Given the description of an element on the screen output the (x, y) to click on. 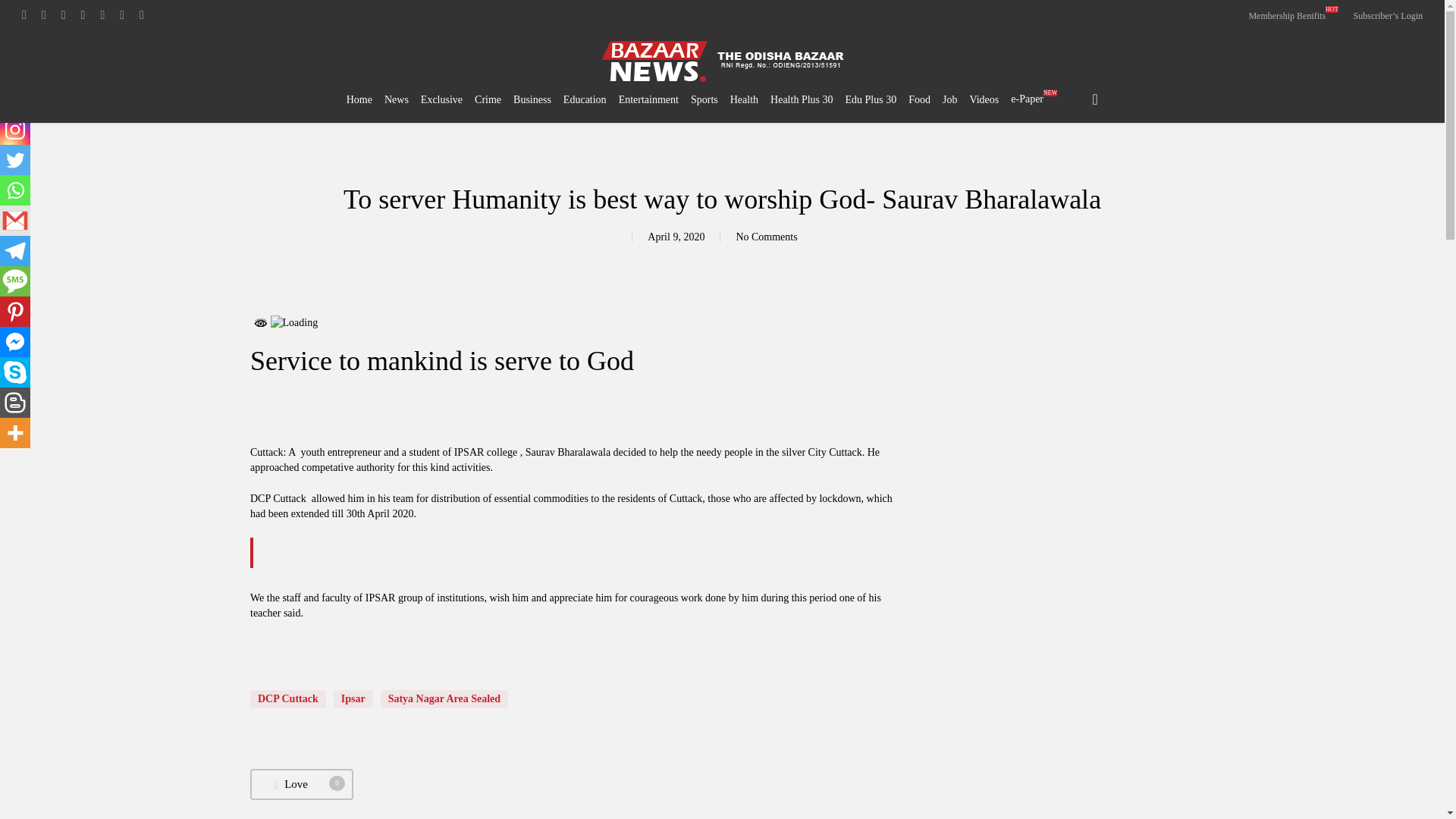
Health (744, 100)
Edu Plus 30 (870, 100)
Education (585, 100)
search (1094, 99)
Skype (15, 372)
Business (532, 100)
Instagram (15, 129)
Crime (487, 100)
Home (359, 100)
Facebook (15, 99)
